Given the description of an element on the screen output the (x, y) to click on. 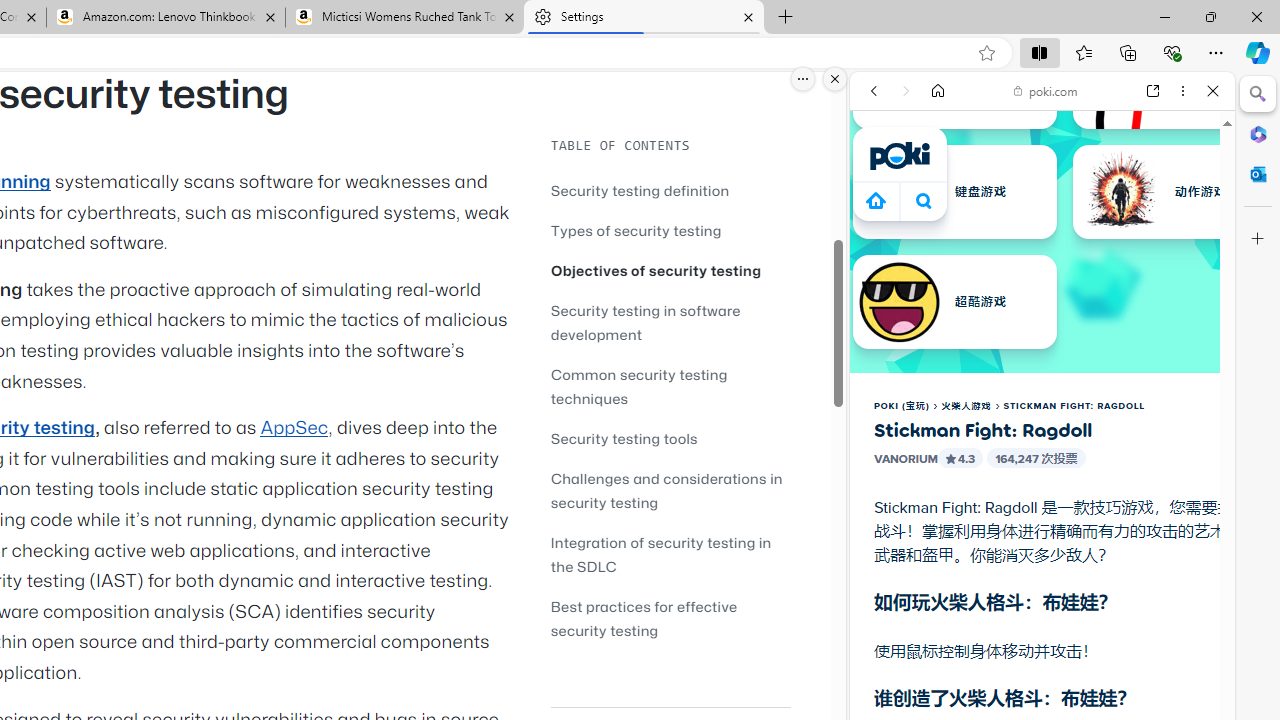
Search Filter, WEB (882, 228)
Show More Io Games (1164, 619)
Objectives of security testing (670, 269)
